Given the description of an element on the screen output the (x, y) to click on. 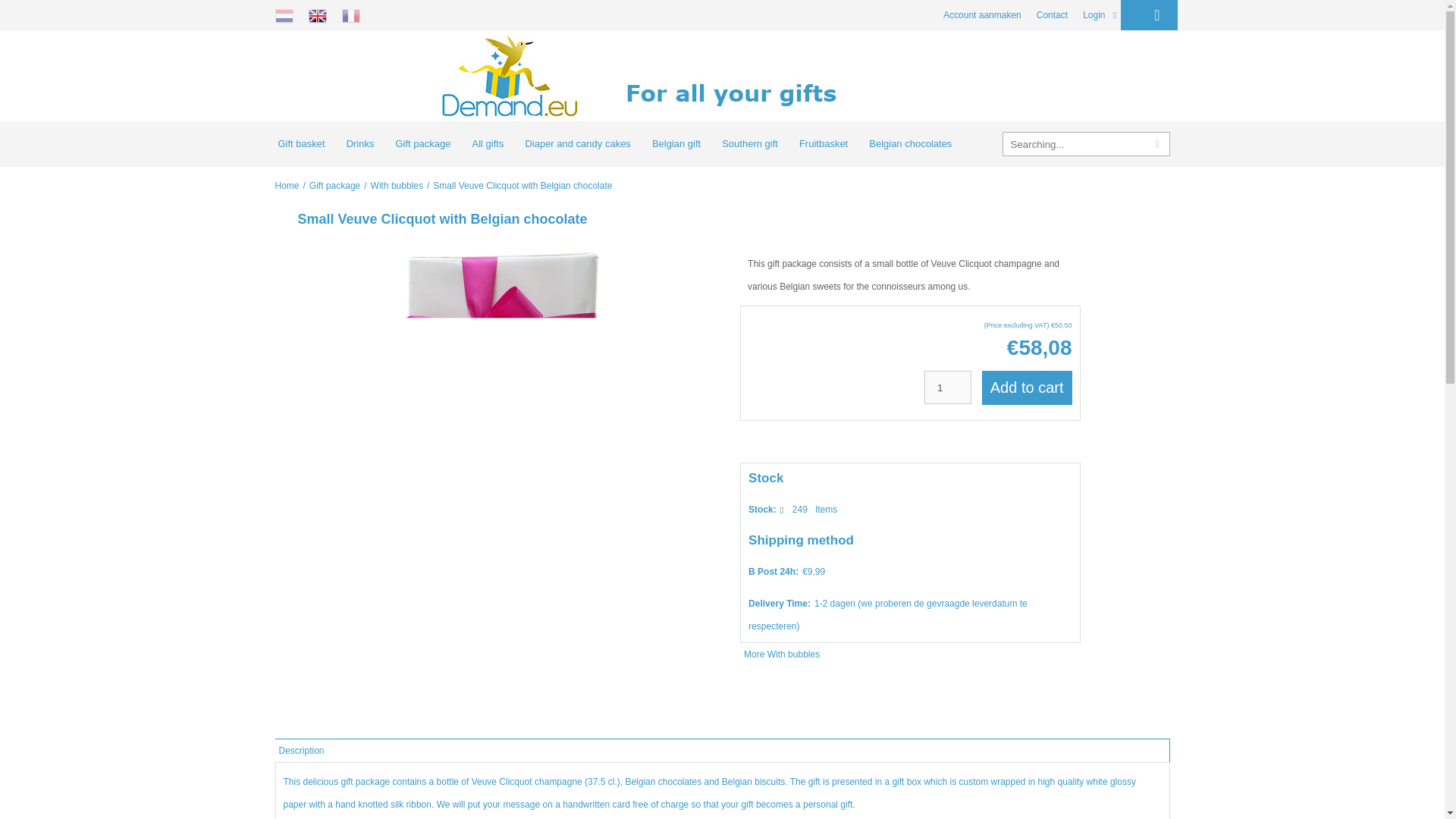
1 (947, 387)
Nederlands (283, 14)
Gift package (422, 144)
English (316, 14)
Gift basket (300, 144)
Drinks (360, 144)
